Given the description of an element on the screen output the (x, y) to click on. 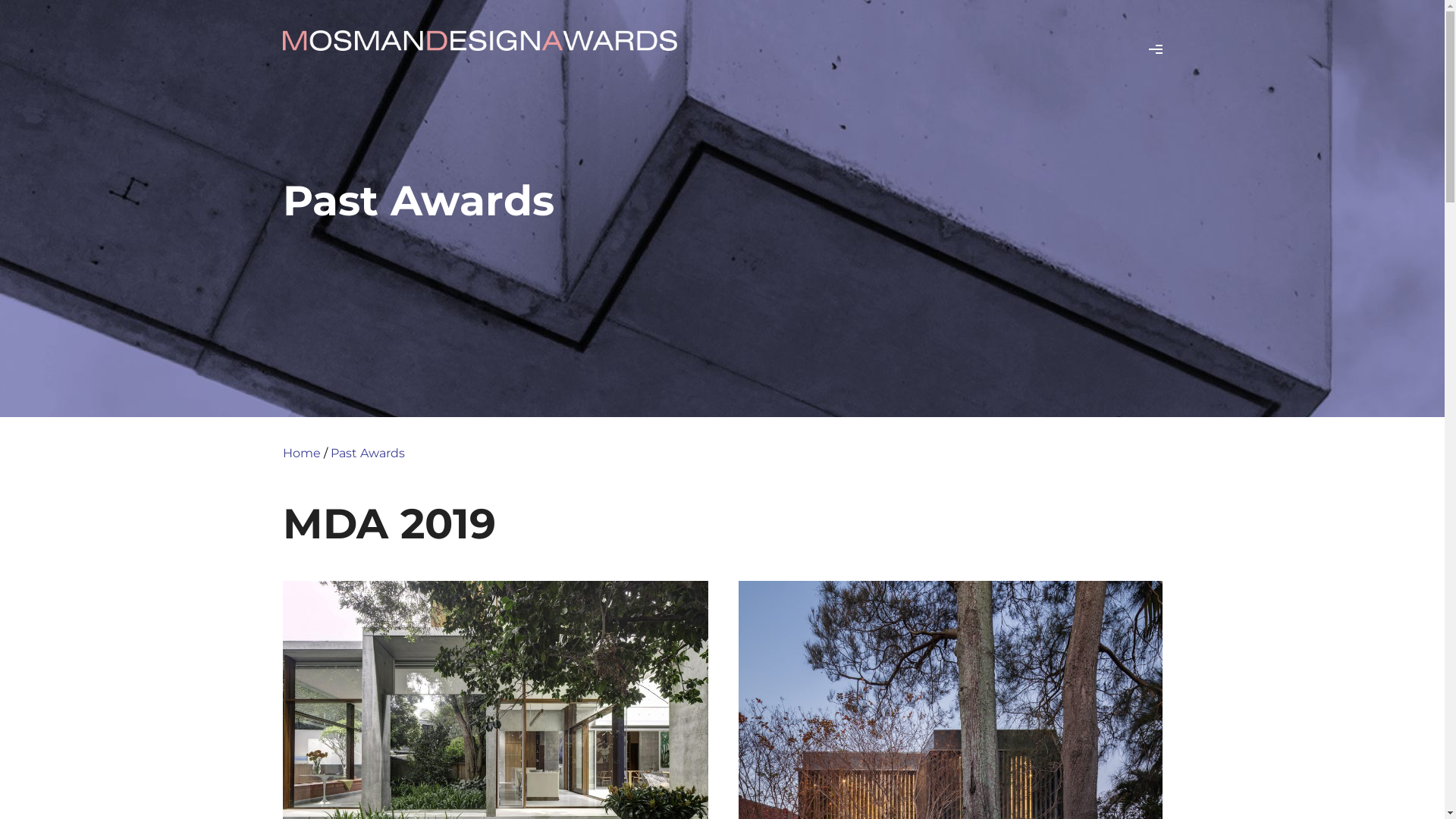
Home Element type: text (301, 452)
Past Awards Element type: text (367, 452)
Hamburger Menu Controller Element type: hover (1154, 49)
